Given the description of an element on the screen output the (x, y) to click on. 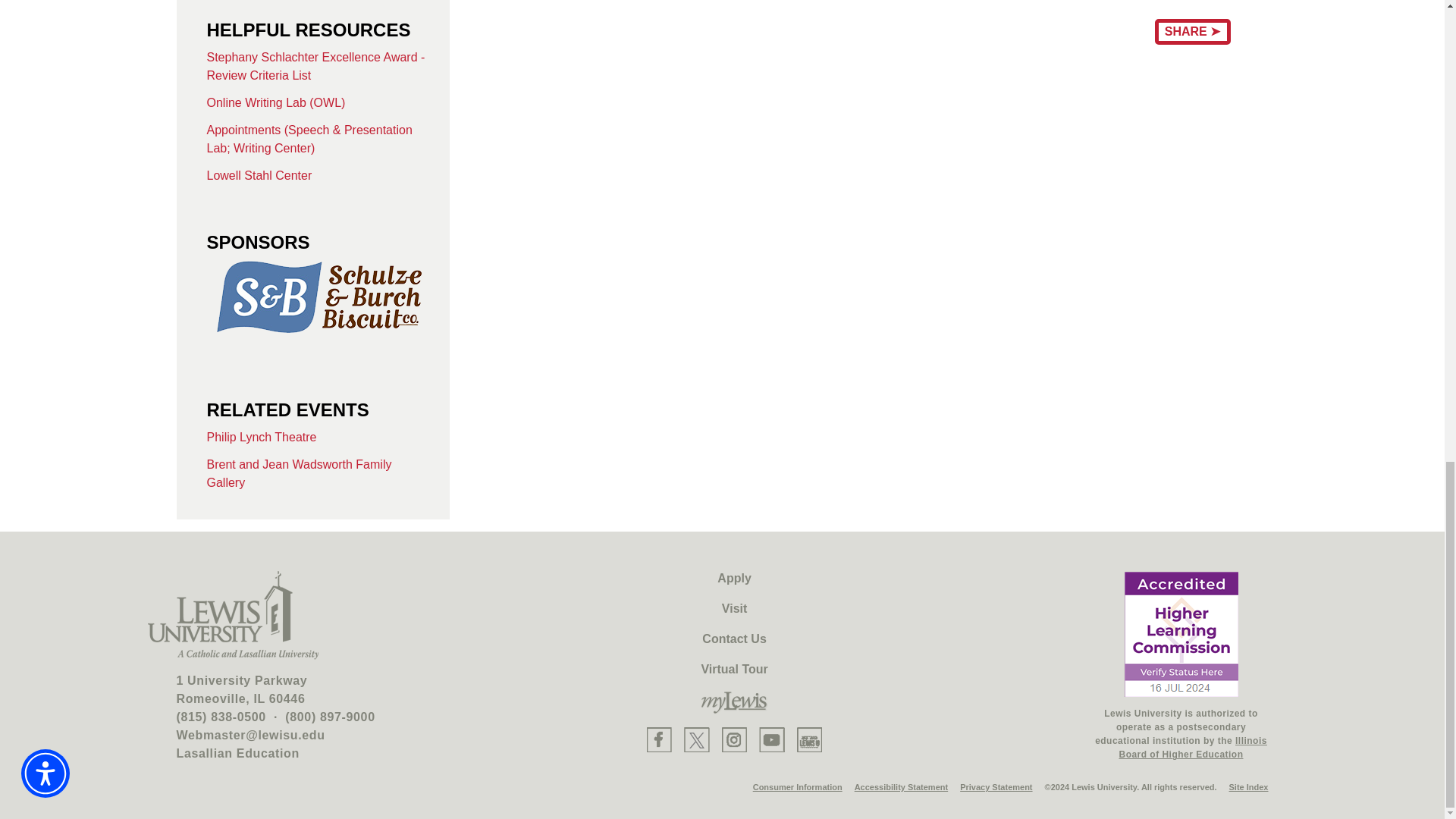
Illinois Board of Higher Education Logo (1180, 634)
